Given the description of an element on the screen output the (x, y) to click on. 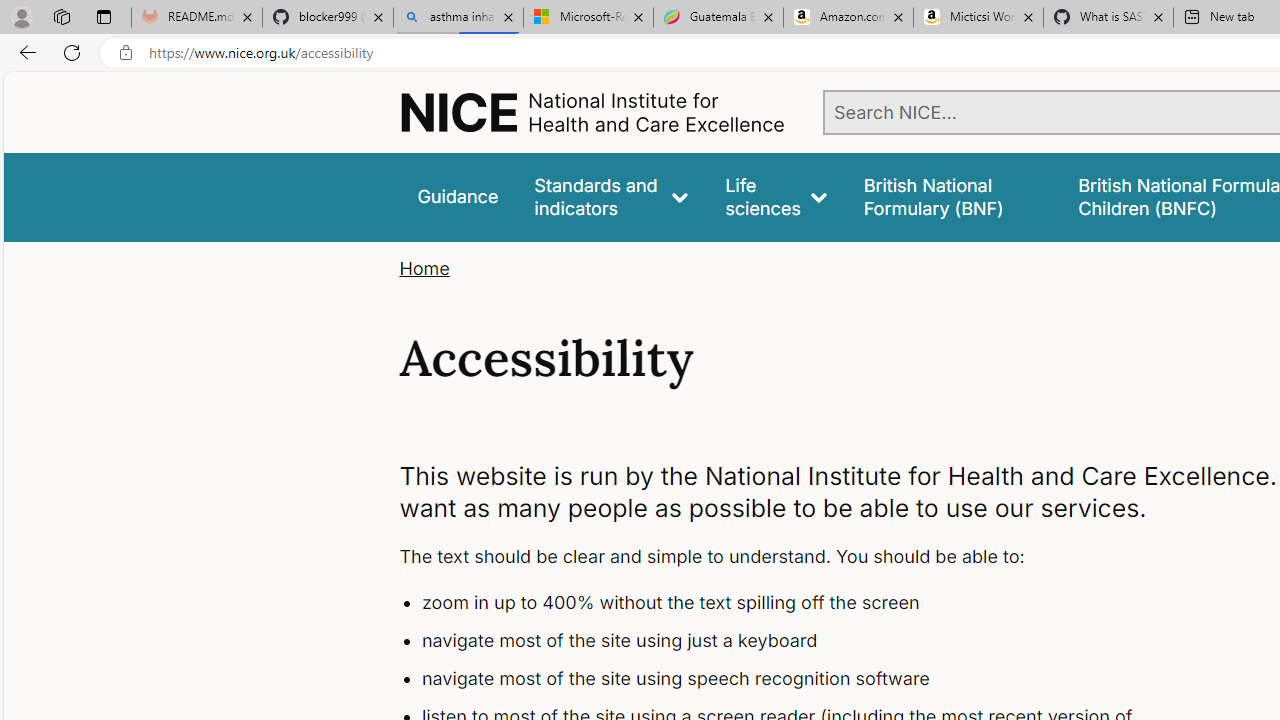
asthma inhaler - Search (458, 17)
navigate most of the site using just a keyboard (796, 641)
zoom in up to 400% without the text spilling off the screen (796, 603)
navigate most of the site using speech recognition software (796, 678)
false (952, 196)
